Given the description of an element on the screen output the (x, y) to click on. 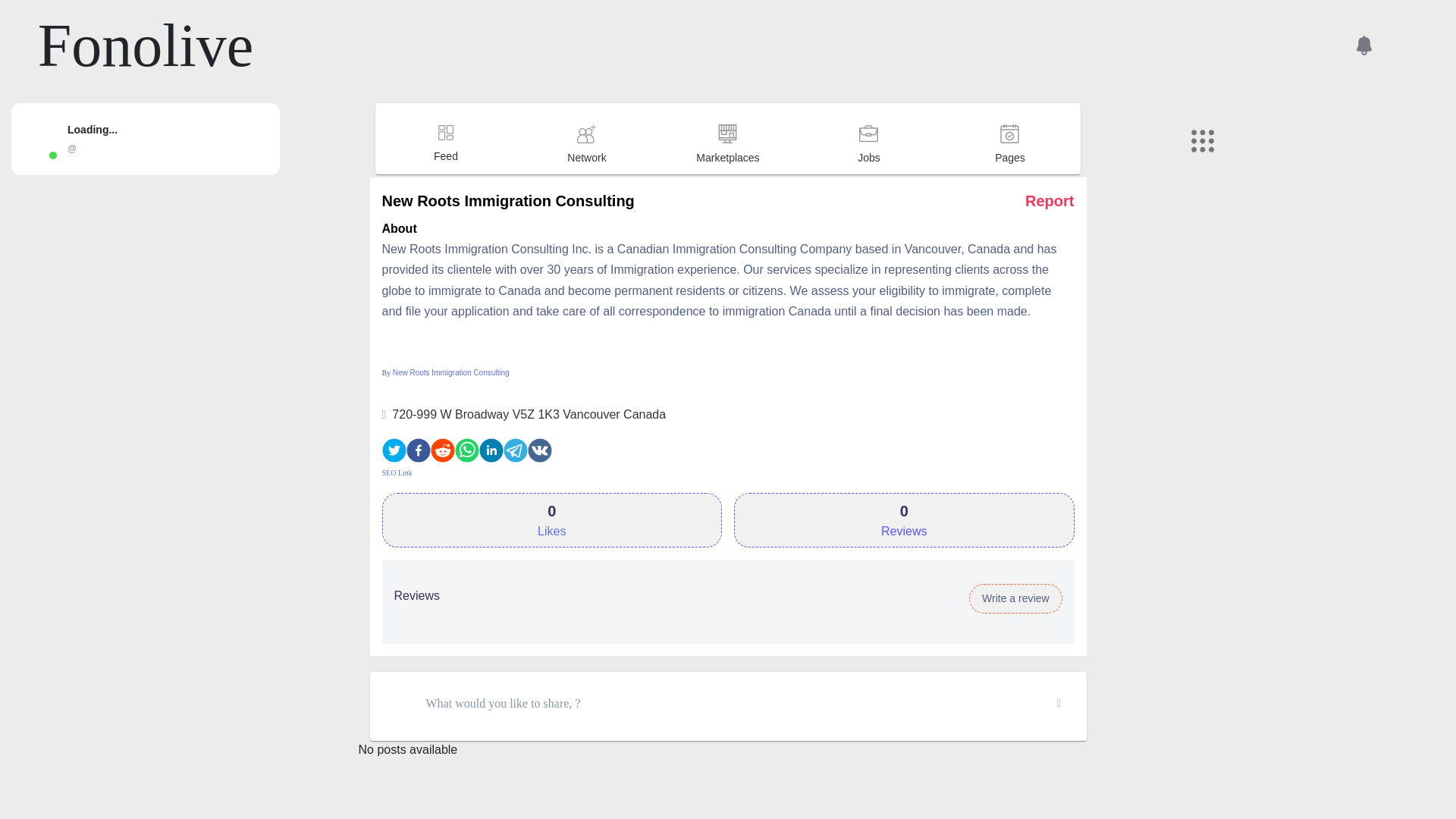
New Roots Immigration Consulting (451, 372)
Jobs (868, 173)
Fonolive (145, 45)
Pages (1009, 173)
Marketplaces (727, 173)
Network (586, 173)
Feed (445, 170)
SEO Link (396, 472)
